Given the description of an element on the screen output the (x, y) to click on. 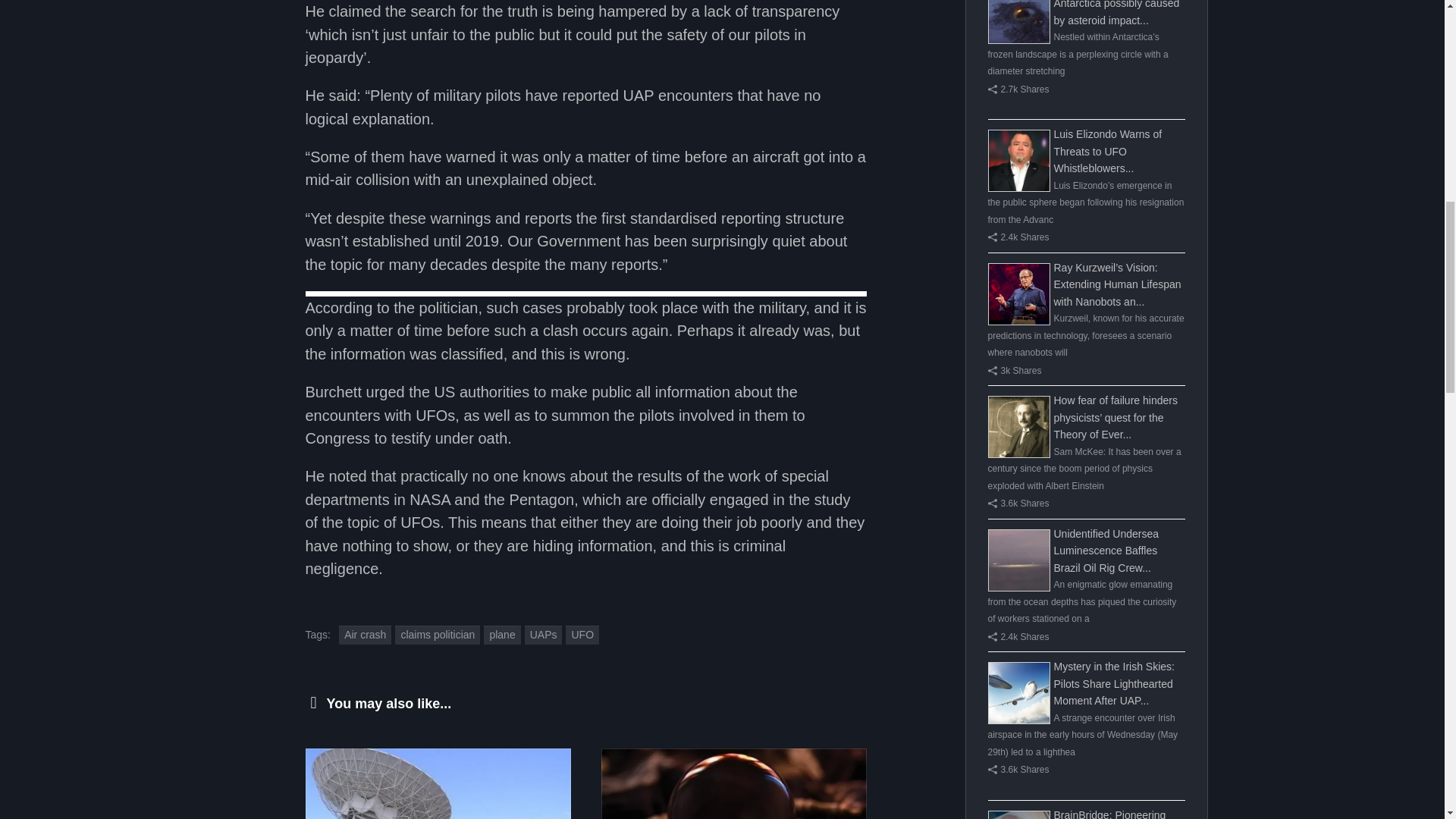
UAPs (543, 634)
Air crash (365, 634)
UFO (582, 634)
plane (501, 634)
claims politician (437, 634)
